Given the description of an element on the screen output the (x, y) to click on. 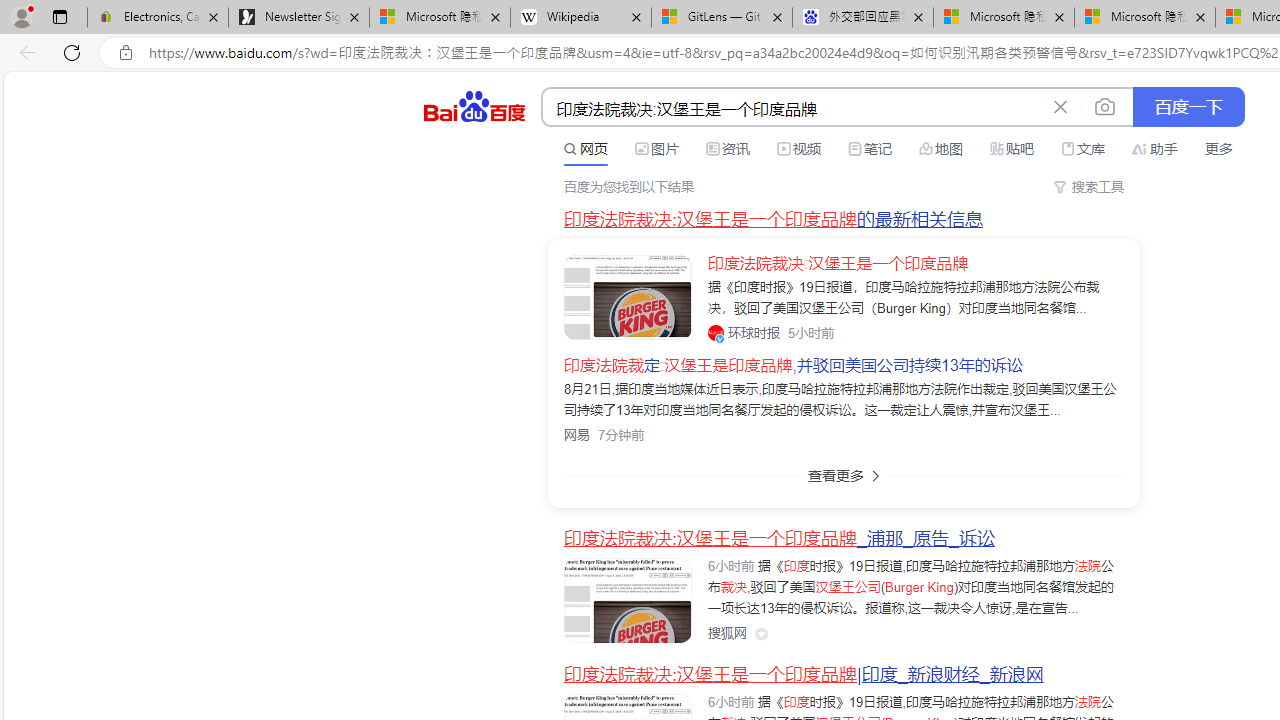
Class: siteLink_9TPP3 (727, 632)
Class: c-img c-img-radius-large (628, 296)
Wikipedia (580, 17)
